Given the description of an element on the screen output the (x, y) to click on. 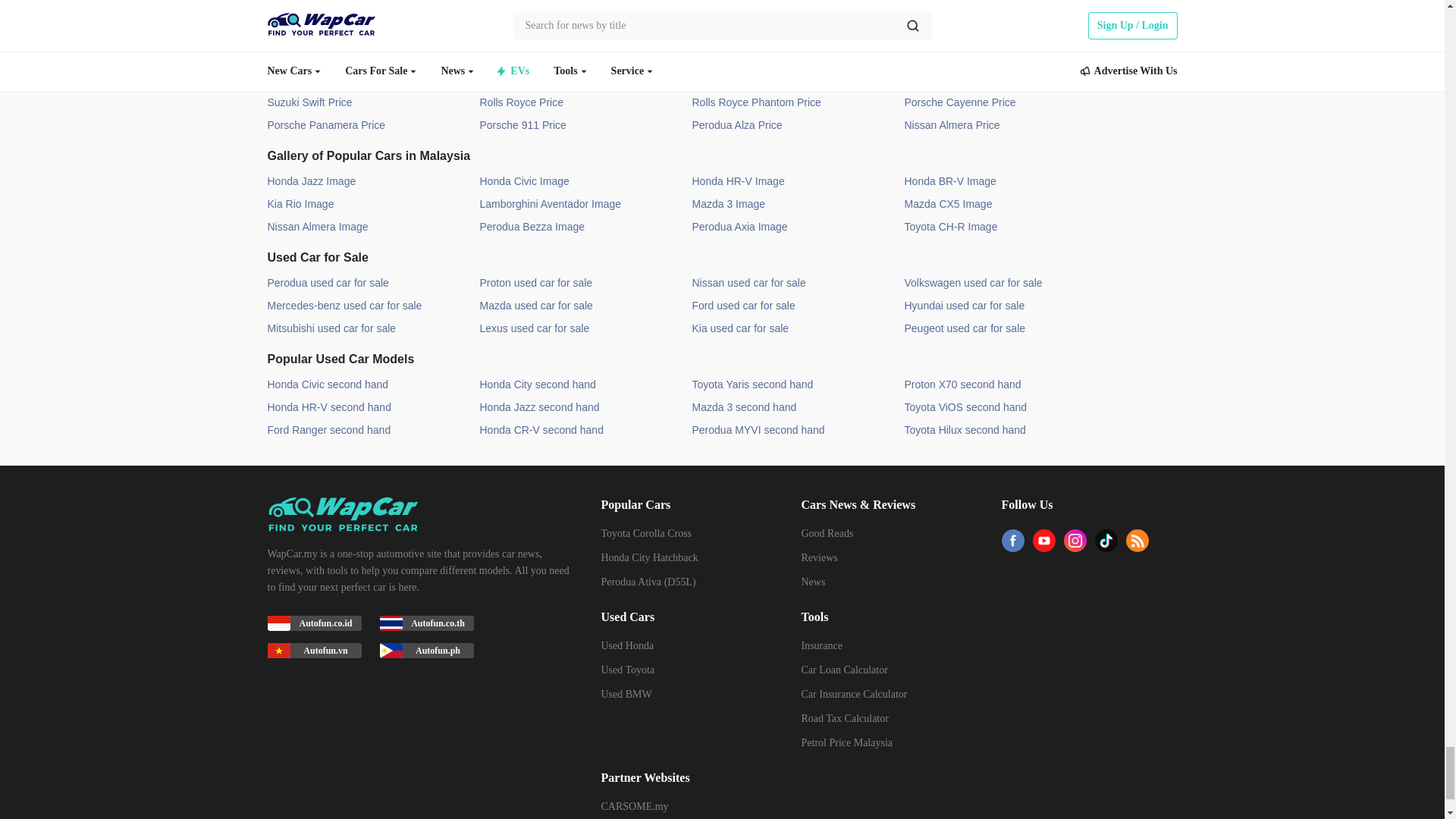
youtube (1043, 545)
rss (1136, 545)
facebook (1012, 545)
tiktok (1106, 545)
ins (1074, 545)
